Given the description of an element on the screen output the (x, y) to click on. 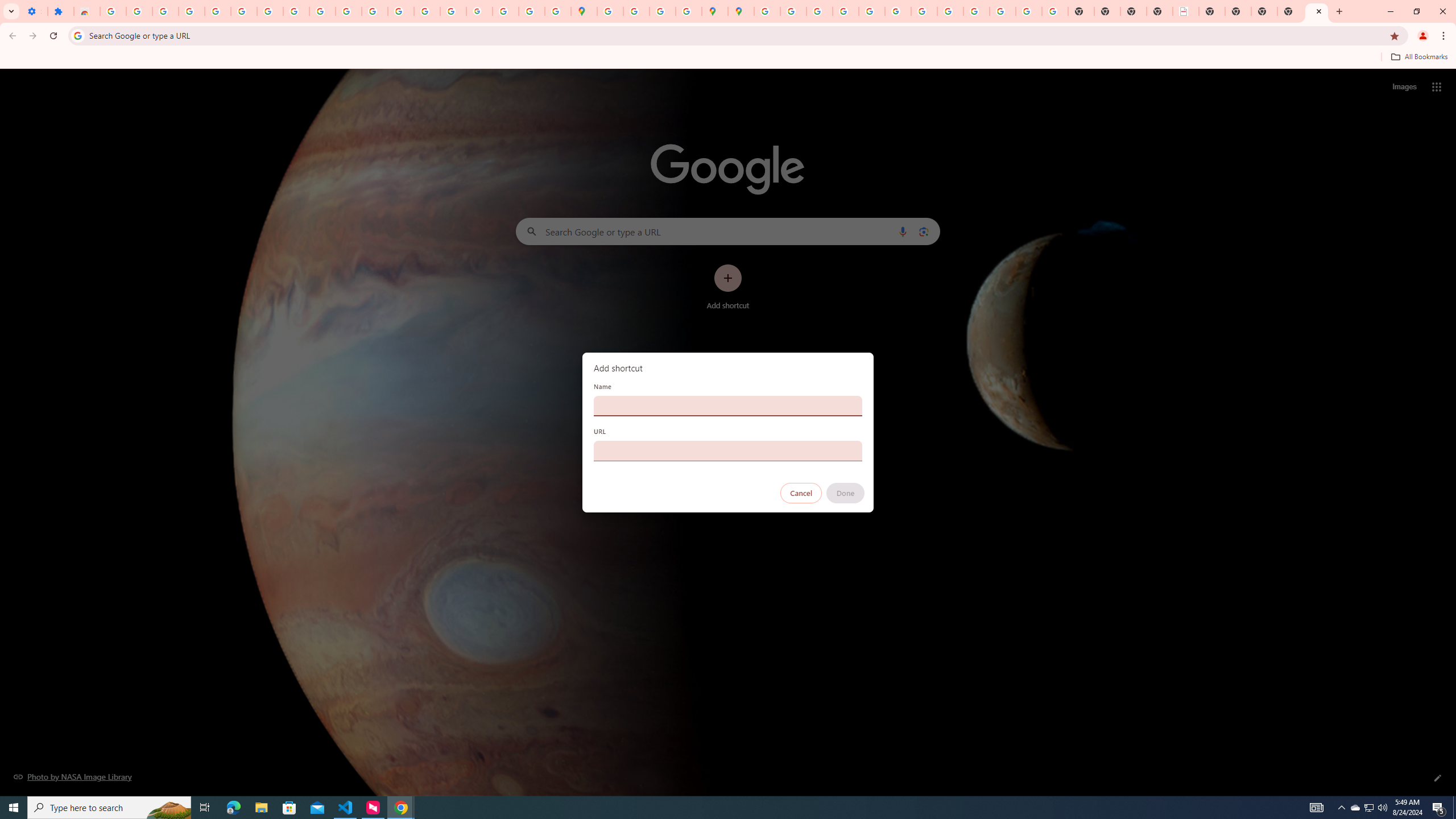
Settings - On startup (34, 11)
